Given the description of an element on the screen output the (x, y) to click on. 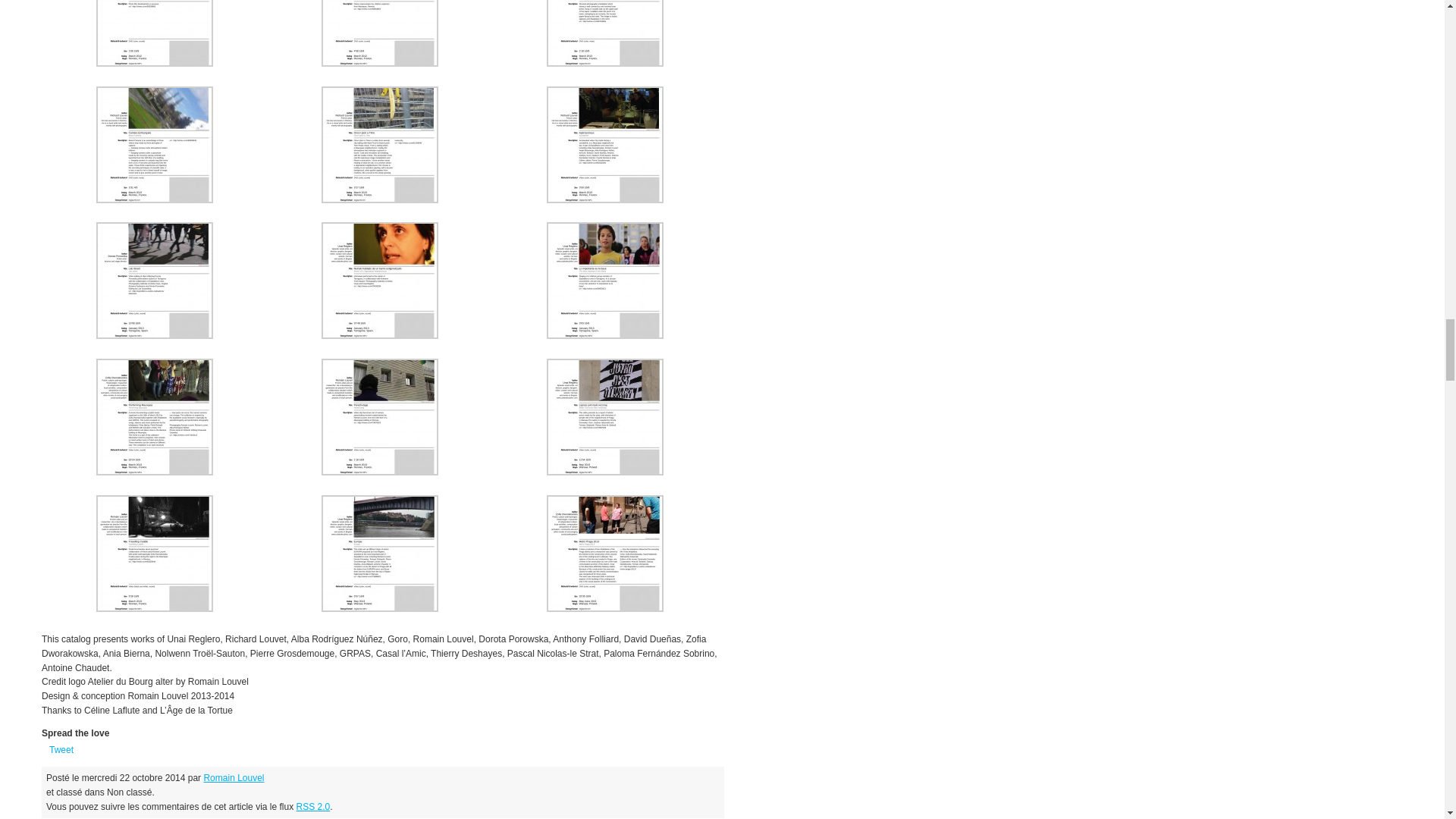
Articles par Romain Louvel (233, 777)
